Given the description of an element on the screen output the (x, y) to click on. 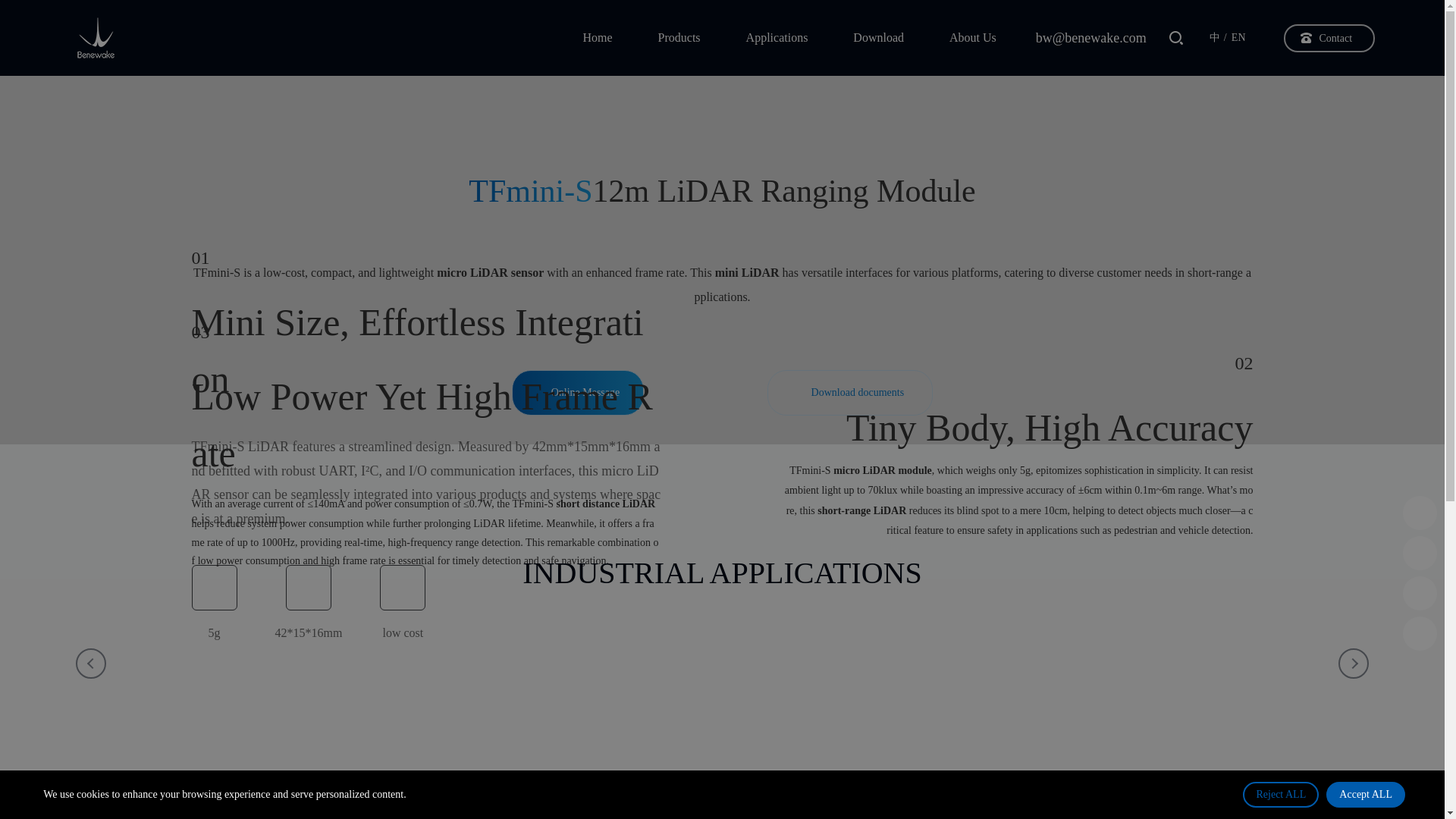
Home (596, 37)
Products (679, 37)
